Given the description of an element on the screen output the (x, y) to click on. 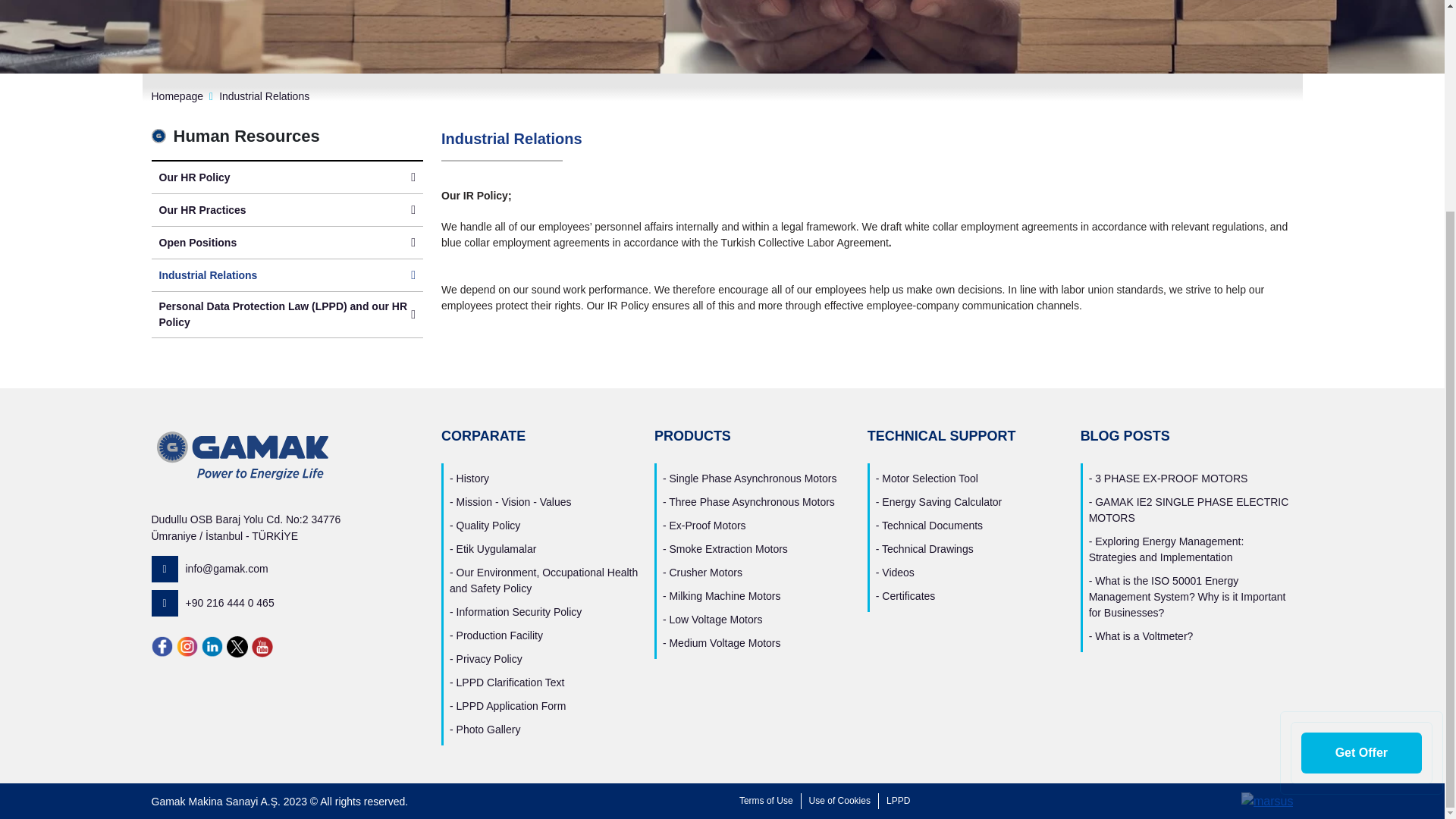
Homepage (177, 96)
Open Positions (287, 242)
Industrial Relations (287, 275)
Our HR Policy (287, 177)
Our HR Practices (287, 210)
